Given the description of an element on the screen output the (x, y) to click on. 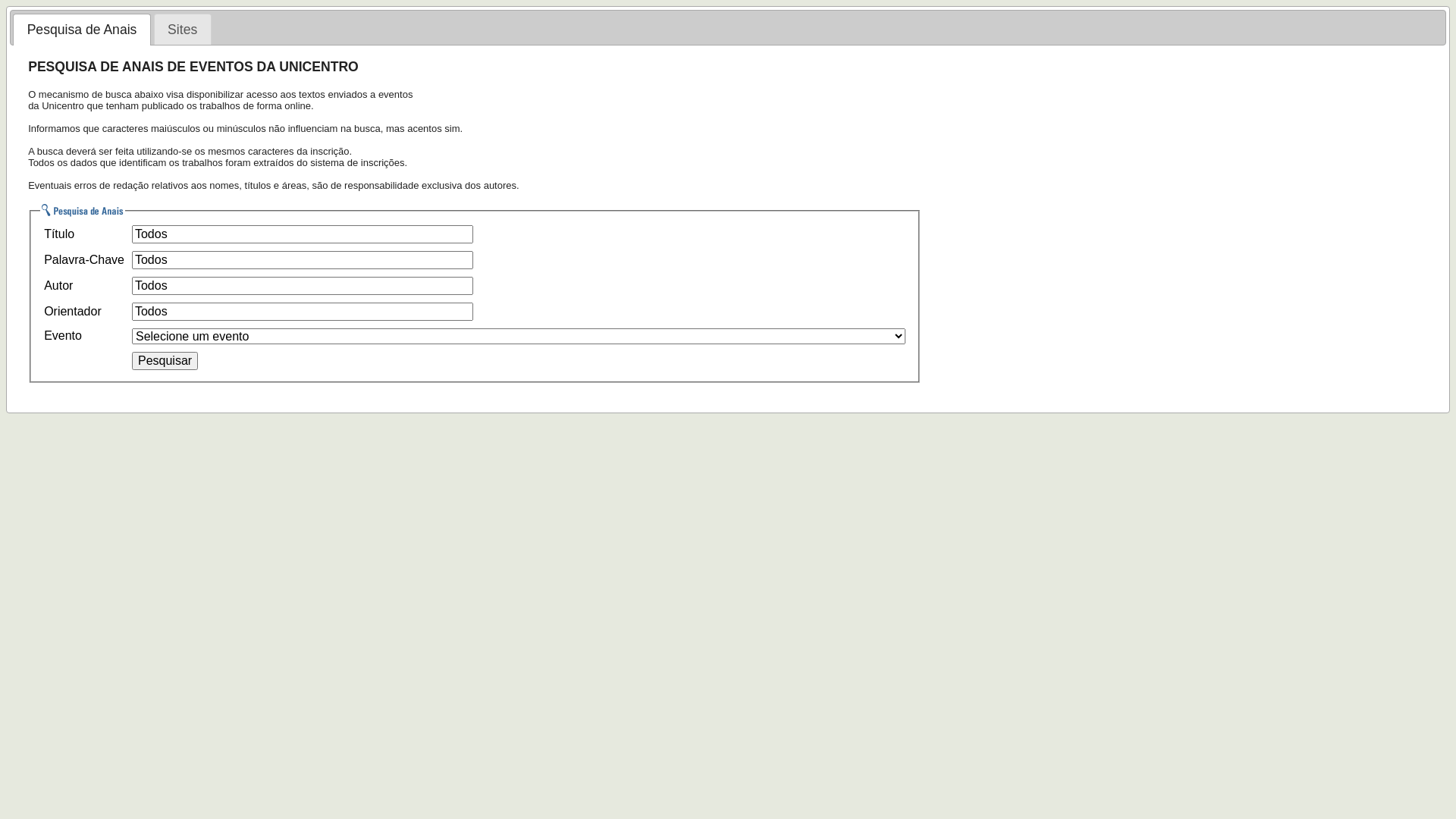
Pesquisar Element type: text (164, 360)
Sites Element type: text (182, 29)
Pesquisa de Anais Element type: text (81, 29)
